Given the description of an element on the screen output the (x, y) to click on. 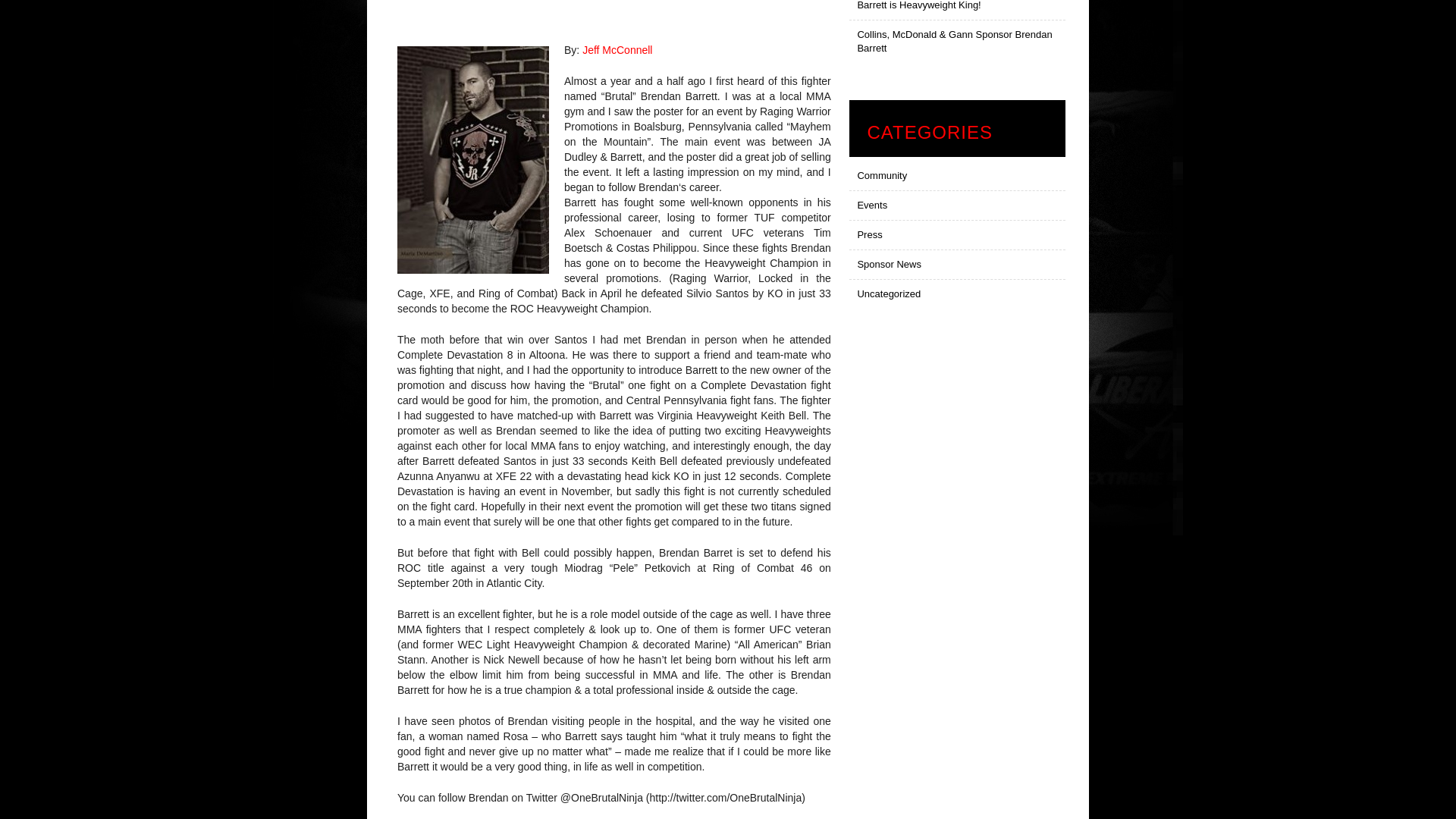
Barrett is Heavyweight King! (956, 10)
